Given the description of an element on the screen output the (x, y) to click on. 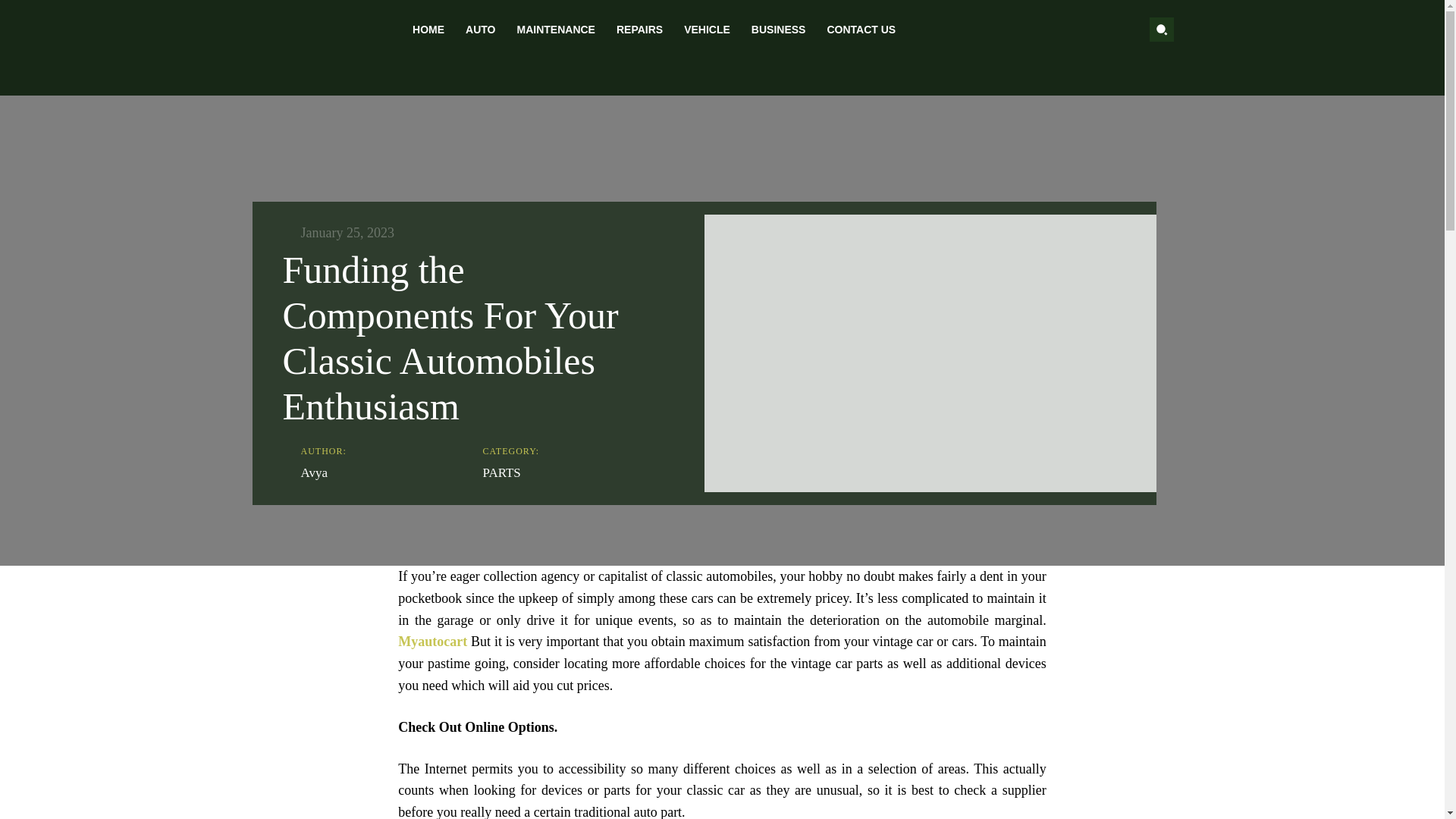
CONTACT US (860, 29)
BUSINESS (778, 29)
PARTS (500, 473)
Avya (313, 473)
Myautocart (432, 641)
AUTO (479, 29)
VEHICLE (706, 29)
MAINTENANCE (555, 29)
REPAIRS (638, 29)
HOME (427, 29)
